Given the description of an element on the screen output the (x, y) to click on. 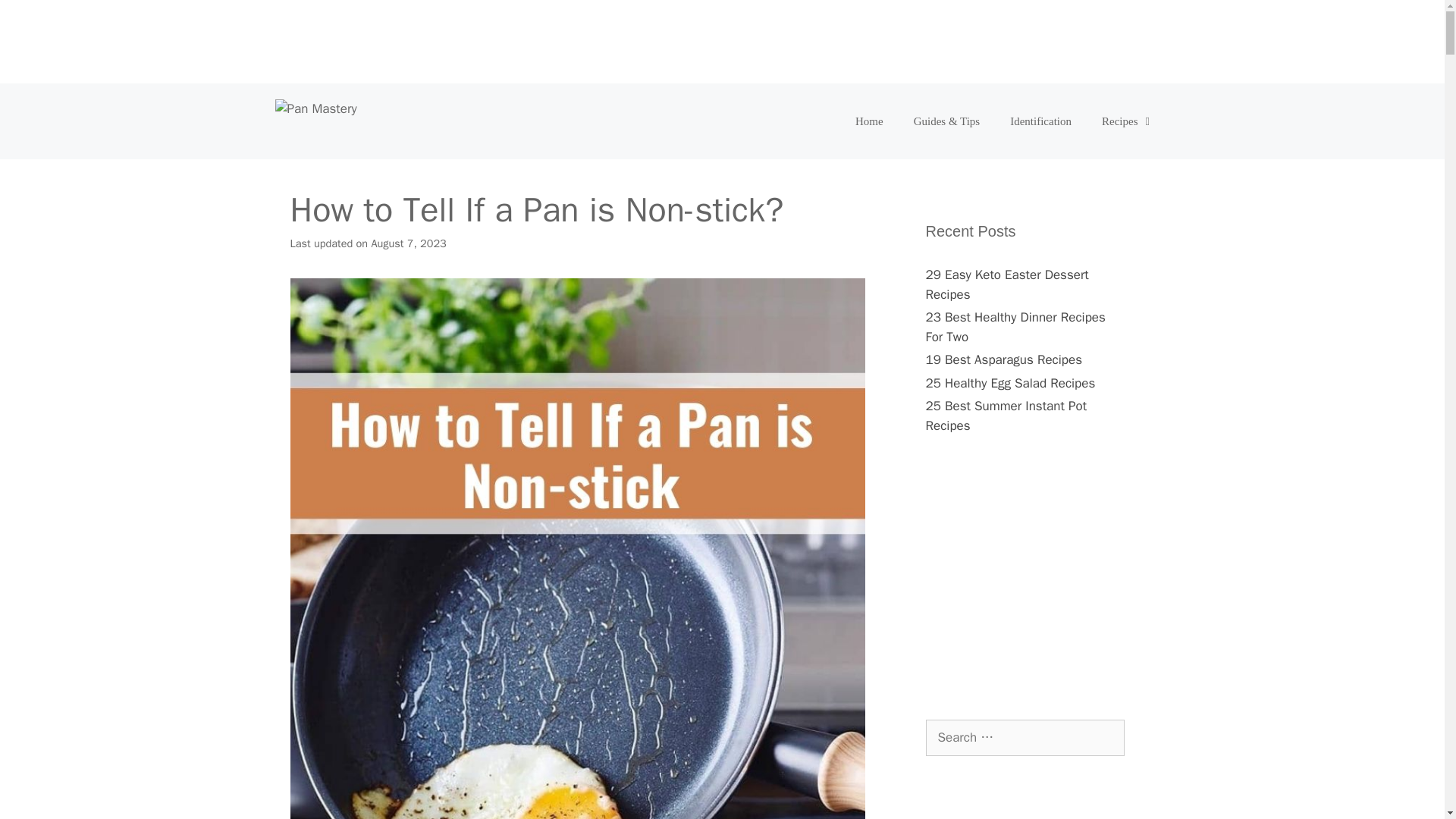
Home (869, 121)
Identification (1040, 121)
Recipes (1127, 121)
